Given the description of an element on the screen output the (x, y) to click on. 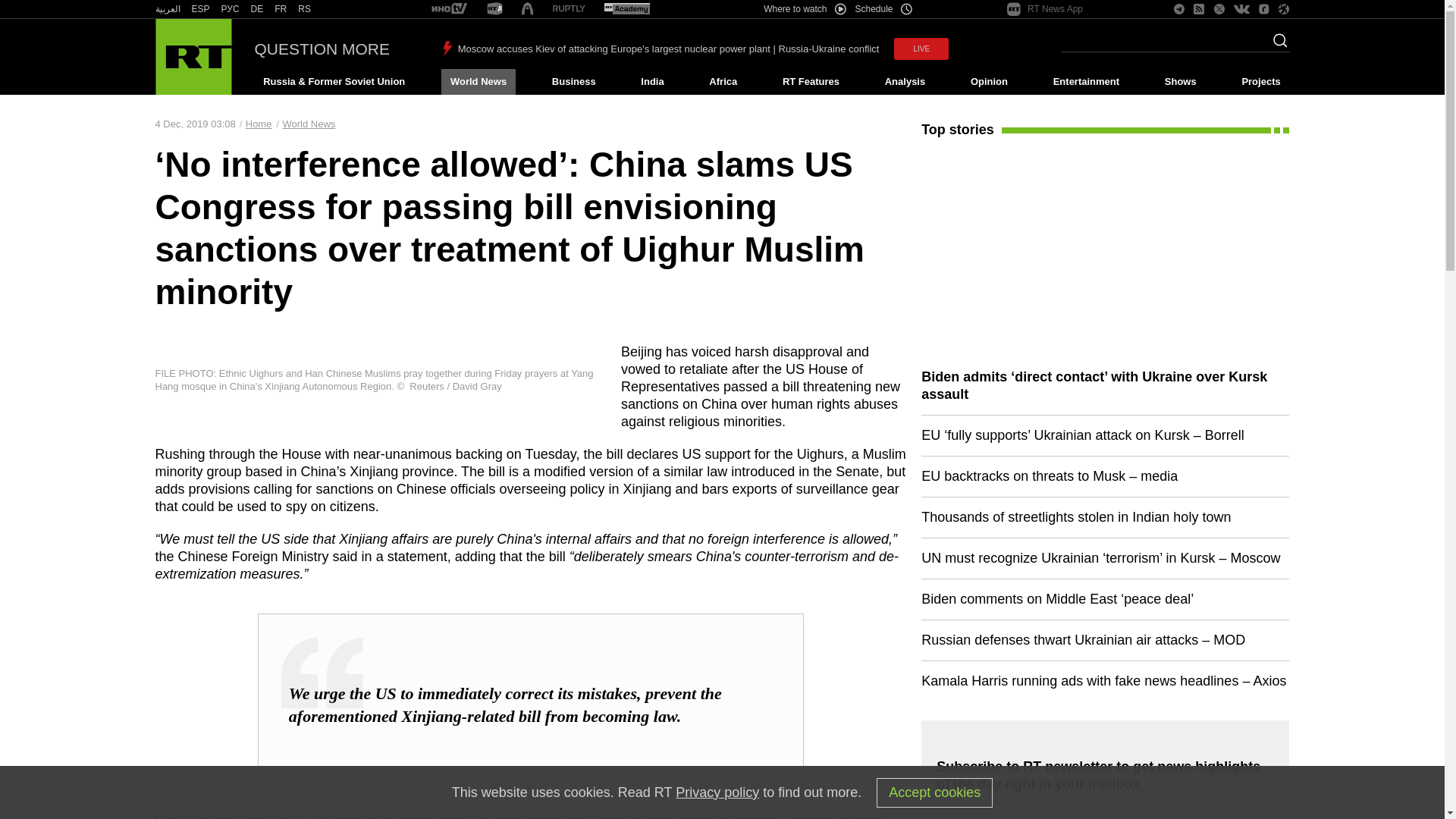
RT  (166, 9)
RS (304, 9)
DE (256, 9)
RT  (199, 9)
Shows (1180, 81)
Schedule (884, 9)
RT  (280, 9)
RT  (494, 9)
QUESTION MORE (322, 48)
Business (573, 81)
